Given the description of an element on the screen output the (x, y) to click on. 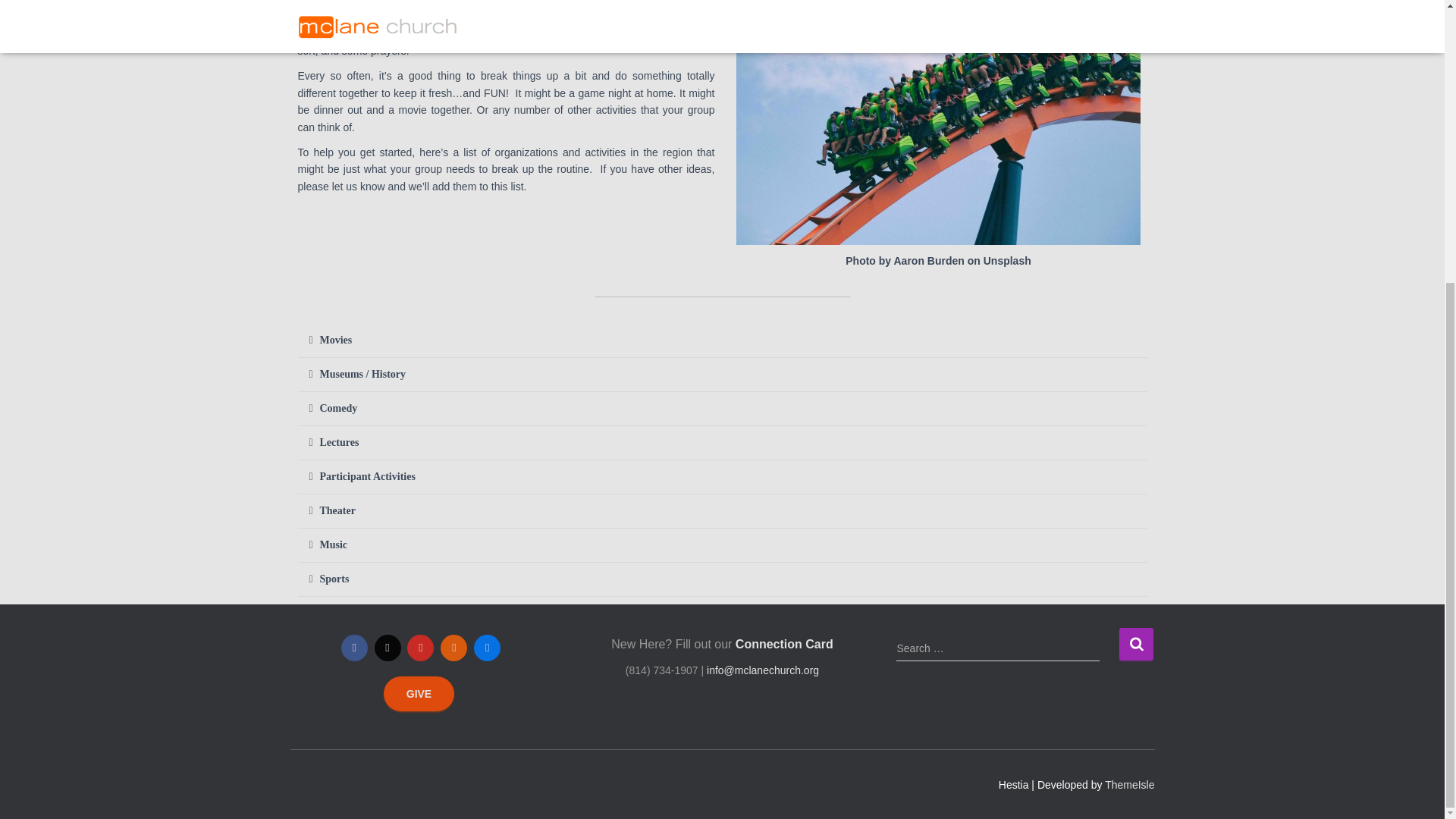
Movies (336, 339)
YouTube (420, 647)
Instagram (387, 647)
Facebook (354, 647)
Search (1136, 644)
Appstore (487, 647)
RSS (454, 647)
Search (1136, 644)
